Given the description of an element on the screen output the (x, y) to click on. 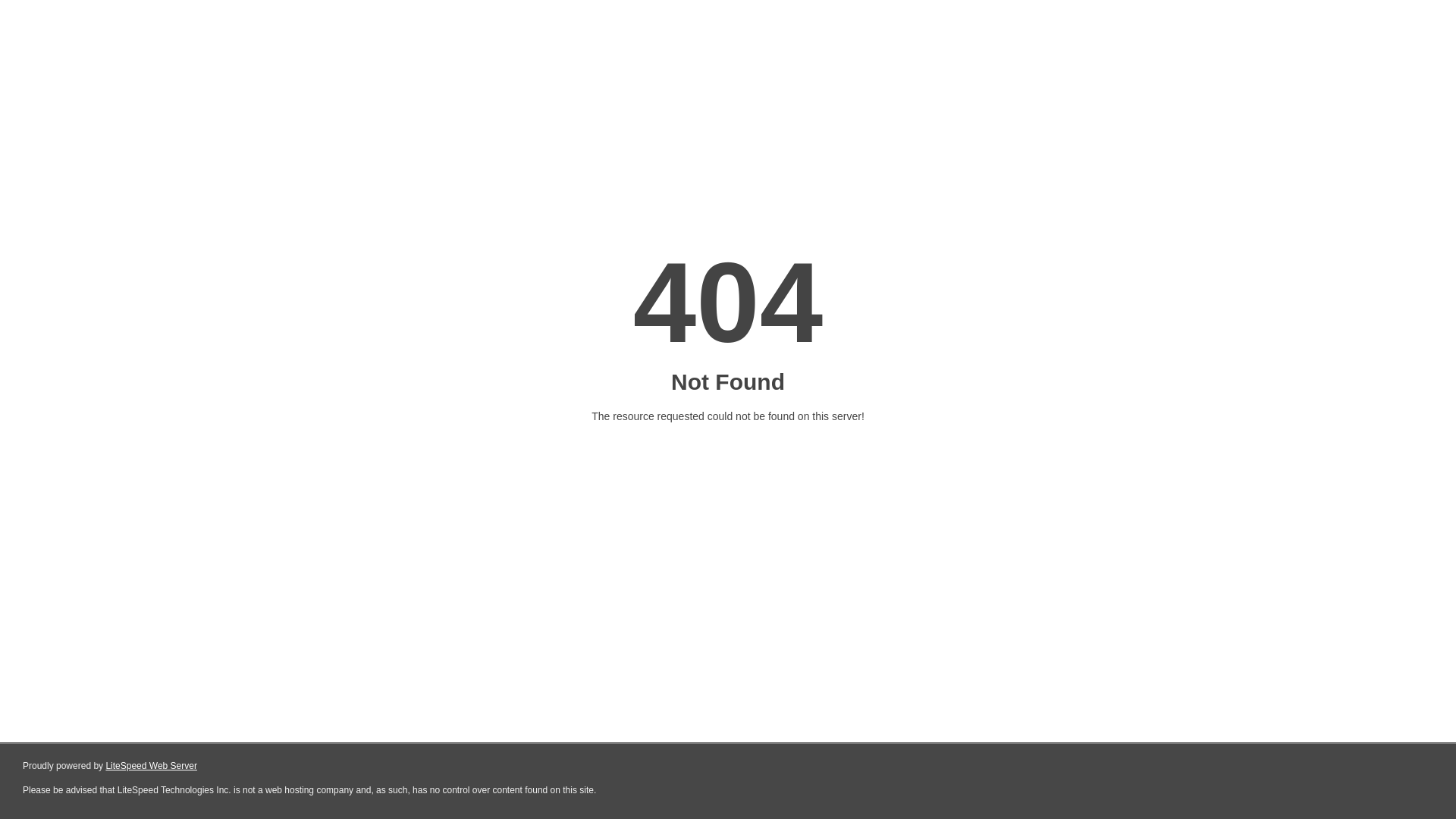
LiteSpeed Web Server Element type: text (151, 765)
